Given the description of an element on the screen output the (x, y) to click on. 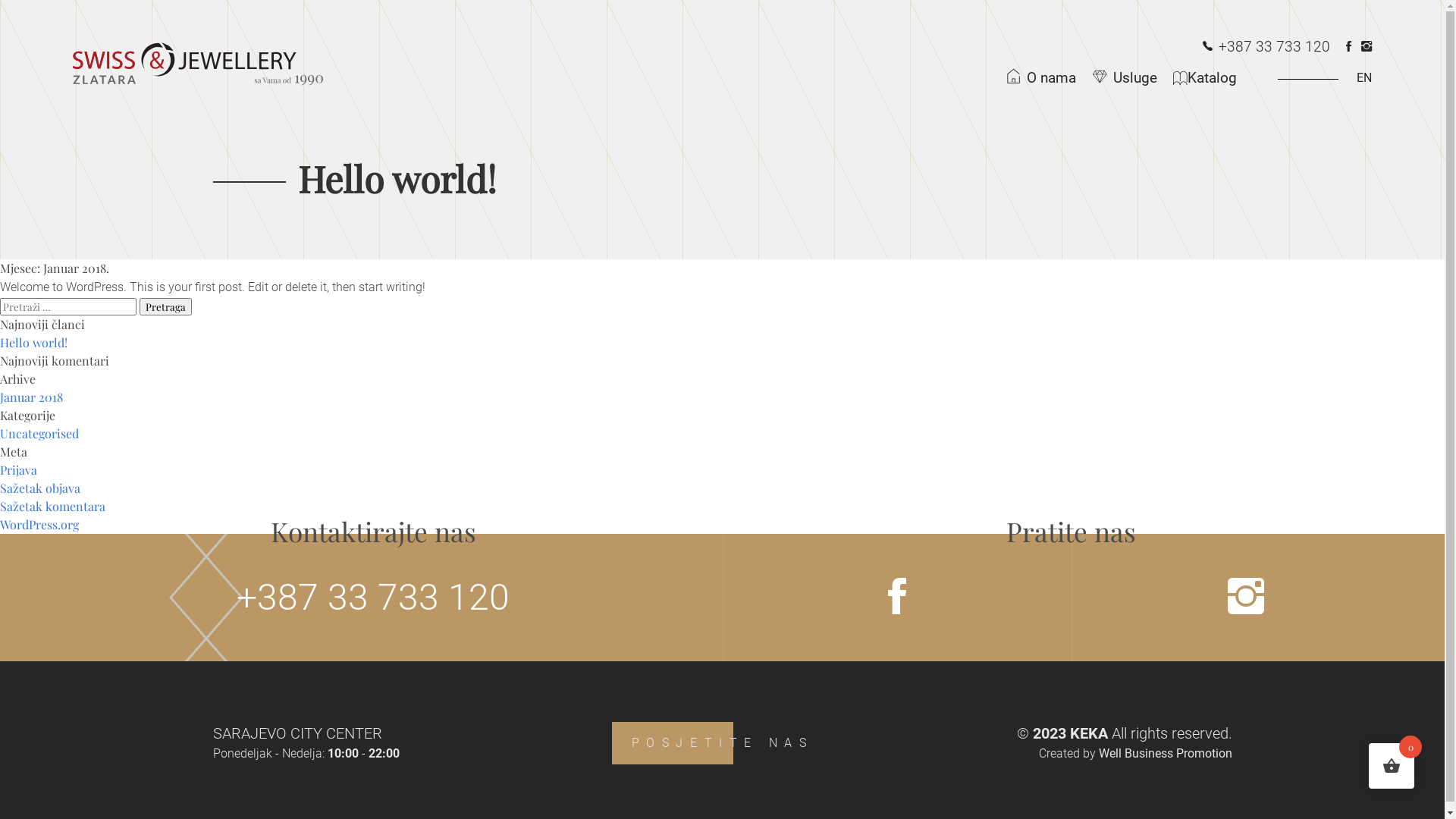
+387 33 733 120 Element type: text (1266, 46)
POSJETITE NAS Element type: text (721, 742)
WordPress.org Element type: text (39, 524)
Pretraga Element type: text (165, 306)
+387 33 733 120 Element type: text (373, 597)
Hello world! Element type: text (33, 342)
O nama Element type: text (1044, 77)
Uncategorised Element type: text (39, 433)
Usluge Element type: text (1128, 78)
EN Element type: text (1315, 78)
Prijava Element type: text (18, 469)
Well Business Promotion Element type: text (1164, 753)
Januar 2018 Element type: text (31, 396)
Katalog Element type: text (1211, 78)
